Given the description of an element on the screen output the (x, y) to click on. 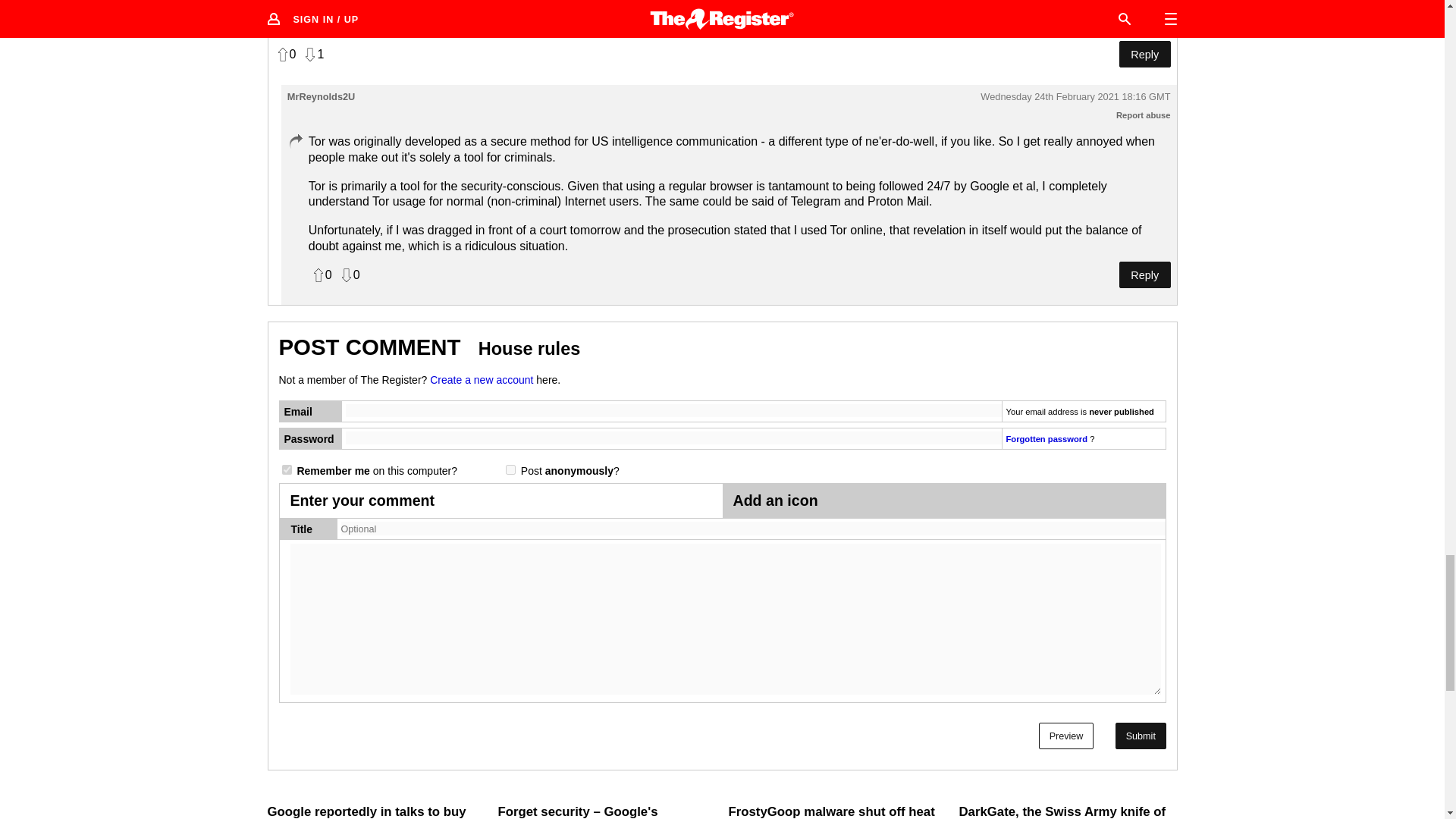
Report abuse (1143, 114)
